Given the description of an element on the screen output the (x, y) to click on. 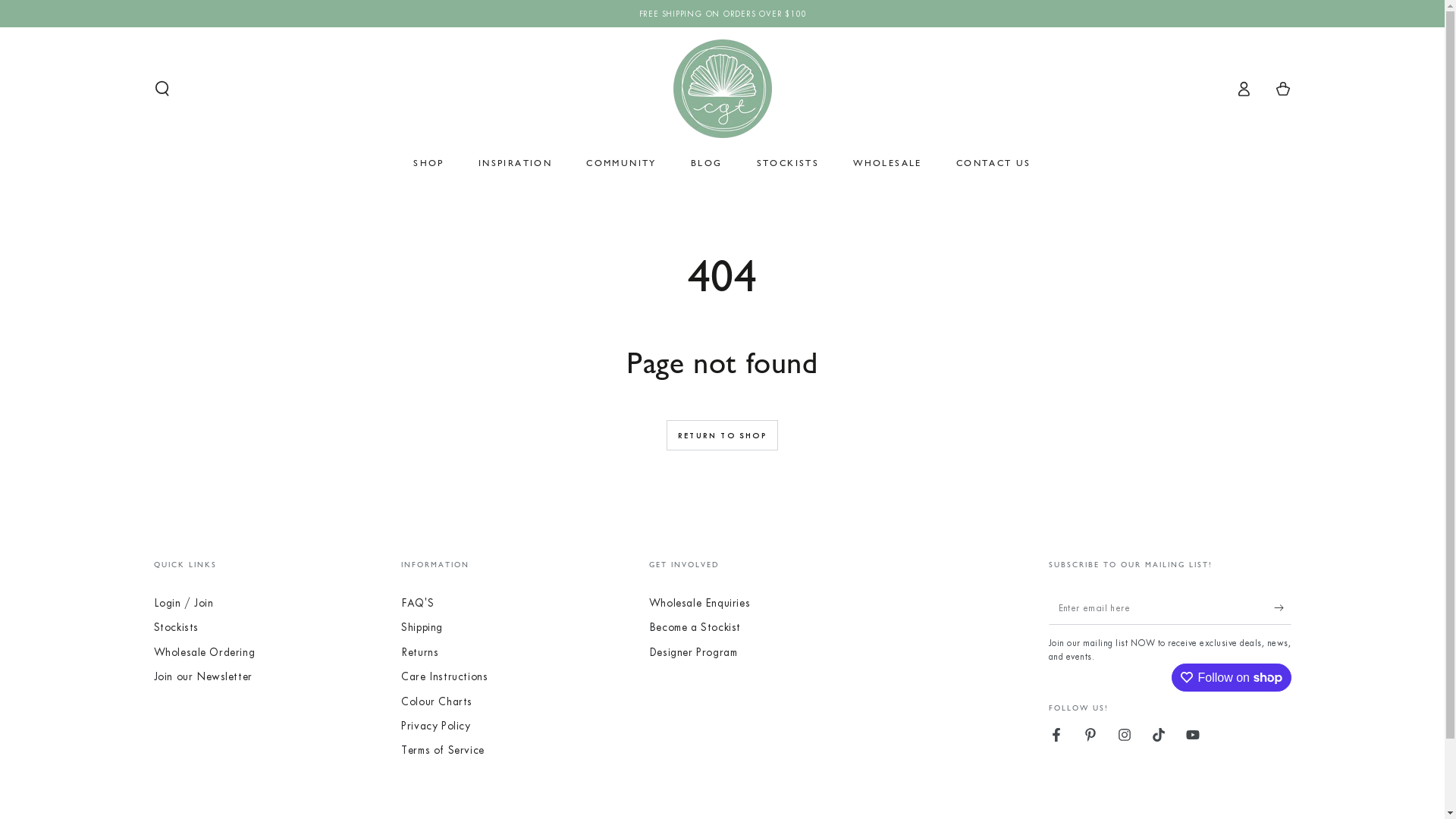
Pinterest Element type: text (1090, 734)
Login / Join Element type: text (183, 602)
Privacy Policy Element type: text (435, 725)
INSPIRATION Element type: text (515, 162)
Care Instructions Element type: text (444, 676)
Returns Element type: text (419, 652)
YouTube Element type: text (1192, 734)
Log in Element type: text (1243, 88)
Wholesale Enquiries Element type: text (699, 602)
SHOP Element type: text (428, 162)
TikTok Element type: text (1158, 734)
Colour Charts Element type: text (436, 701)
STOCKISTS Element type: text (787, 162)
Become a Stockist Element type: text (694, 627)
FAQ'S Element type: text (417, 602)
BLOG Element type: text (706, 162)
RETURN TO SHOP Element type: text (722, 435)
Instagram Element type: text (1124, 734)
CONTACT US Element type: text (993, 162)
COMMUNITY Element type: text (621, 162)
Designer Program Element type: text (693, 652)
Shipping Element type: text (421, 627)
Join our Newsletter Element type: text (202, 676)
WHOLESALE Element type: text (887, 162)
Wholesale Ordering Element type: text (203, 652)
Facebook Element type: text (1056, 734)
Stockists Element type: text (175, 627)
Terms of Service Element type: text (442, 749)
